Given the description of an element on the screen output the (x, y) to click on. 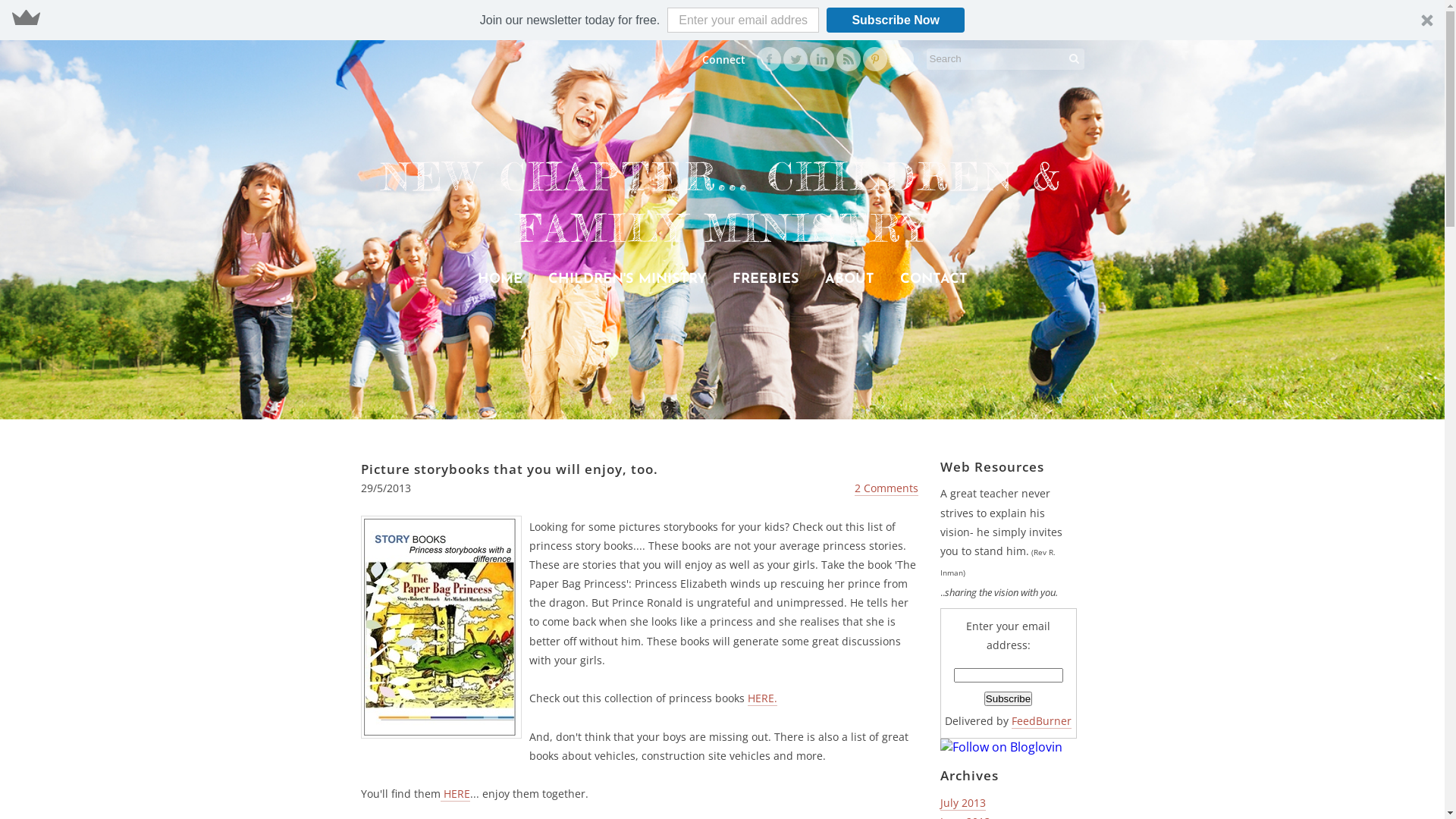
FREEBIES Element type: text (765, 279)
Subscribe Now Element type: text (895, 19)
Subscribe Element type: text (1008, 698)
ABOUT Element type: text (849, 279)
CONTACT Element type: text (932, 279)
2 Comments Element type: text (885, 487)
Picture storybooks that you will enjoy, too. Element type: text (509, 468)
HERE. Element type: text (762, 698)
July 2013 Element type: text (962, 802)
HOME Element type: text (500, 279)
NEW CHAPTER... CHILDREN & FAMILY MINISTRY Element type: text (722, 204)
HERE Element type: text (454, 793)
FeedBurner Element type: text (1041, 720)
CHILDREN'S MINISTRY Element type: text (626, 279)
